Given the description of an element on the screen output the (x, y) to click on. 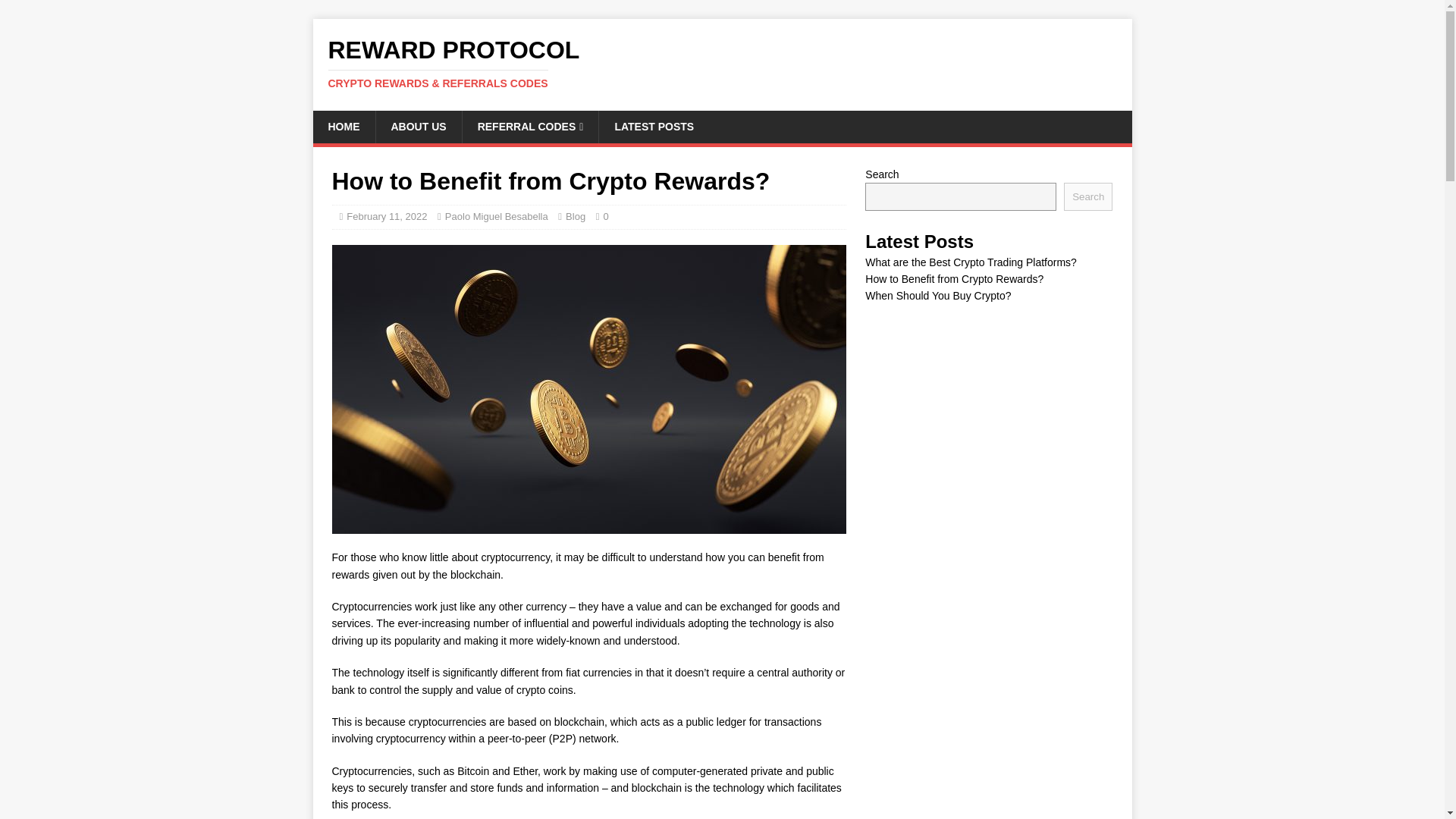
ABOUT US (417, 126)
HOME (343, 126)
Reward Protocol (721, 63)
REFERRAL CODES (529, 126)
